Given the description of an element on the screen output the (x, y) to click on. 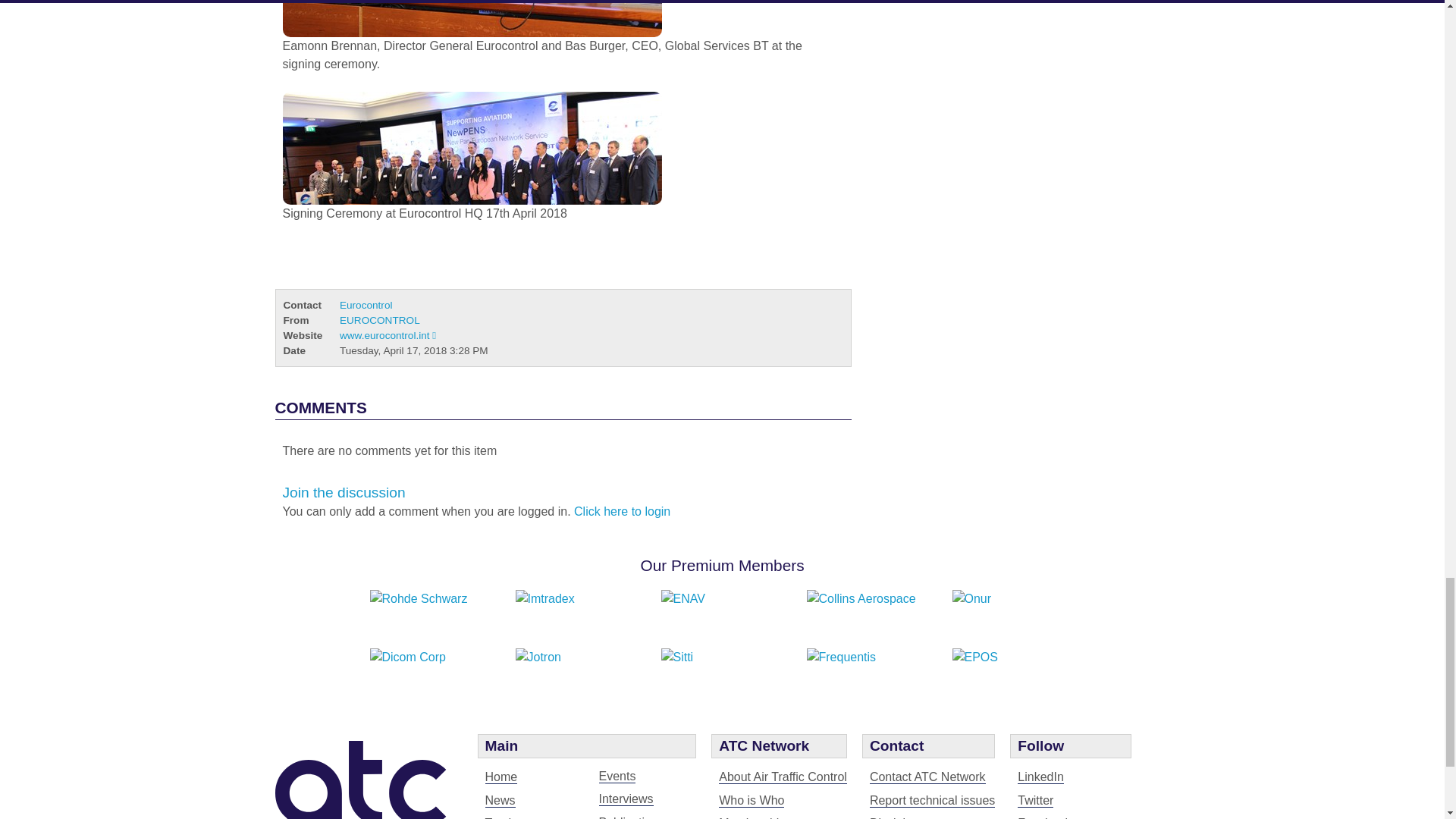
EUROCONTROL (379, 319)
View profile of EUROCONTROL (379, 319)
Eurocontrol (366, 305)
View website of EUROCONTROL (387, 335)
Click here to login (621, 511)
Click here to login (621, 511)
Signing Ceremony at Eurocontrol HQ 17th April 2018 (471, 147)
www.eurocontrol.int (387, 335)
Tenders (506, 817)
News (499, 800)
Home (501, 776)
